Given the description of an element on the screen output the (x, y) to click on. 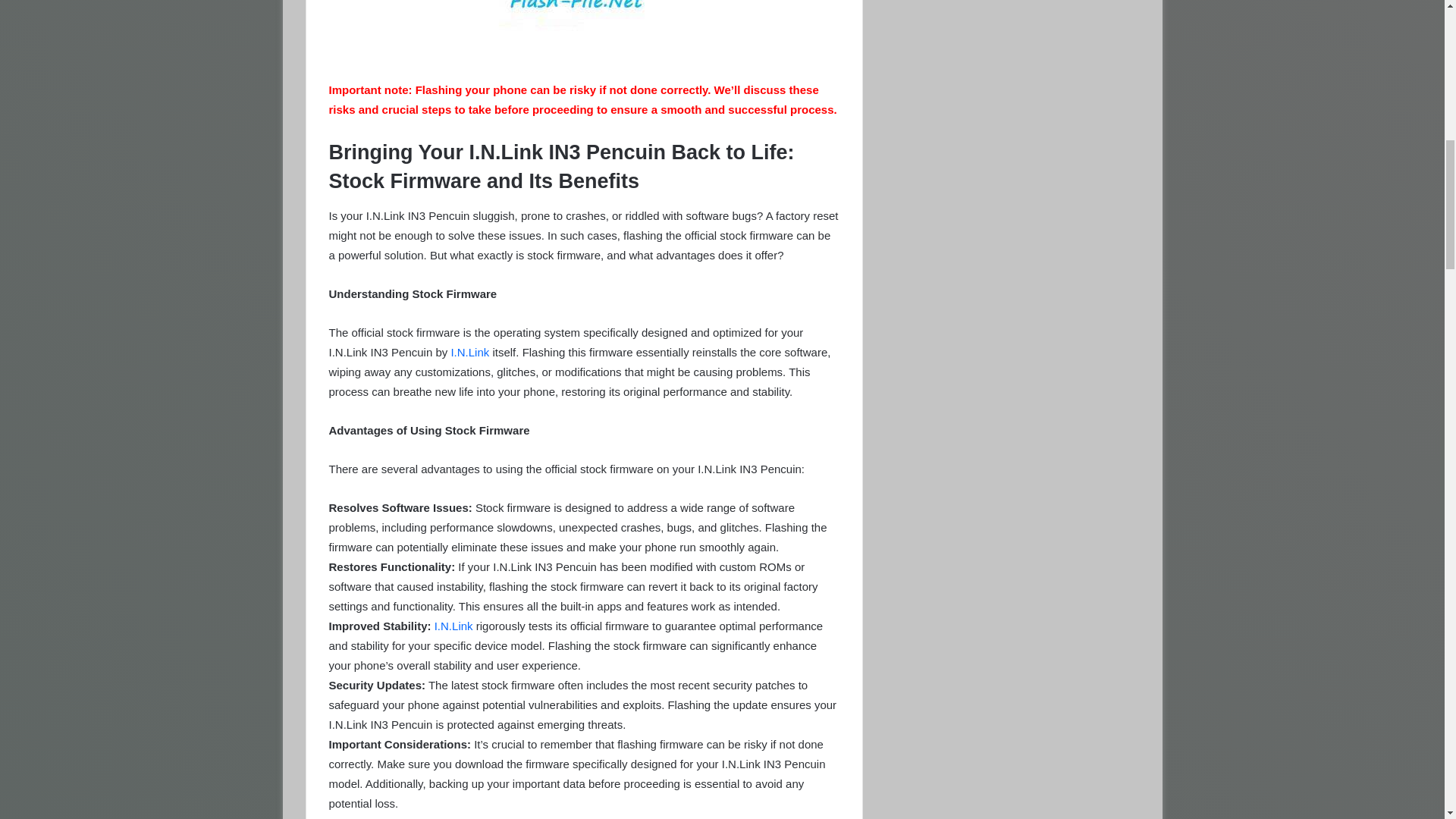
I.N.Link (453, 625)
I.N.Link (469, 351)
